Given the description of an element on the screen output the (x, y) to click on. 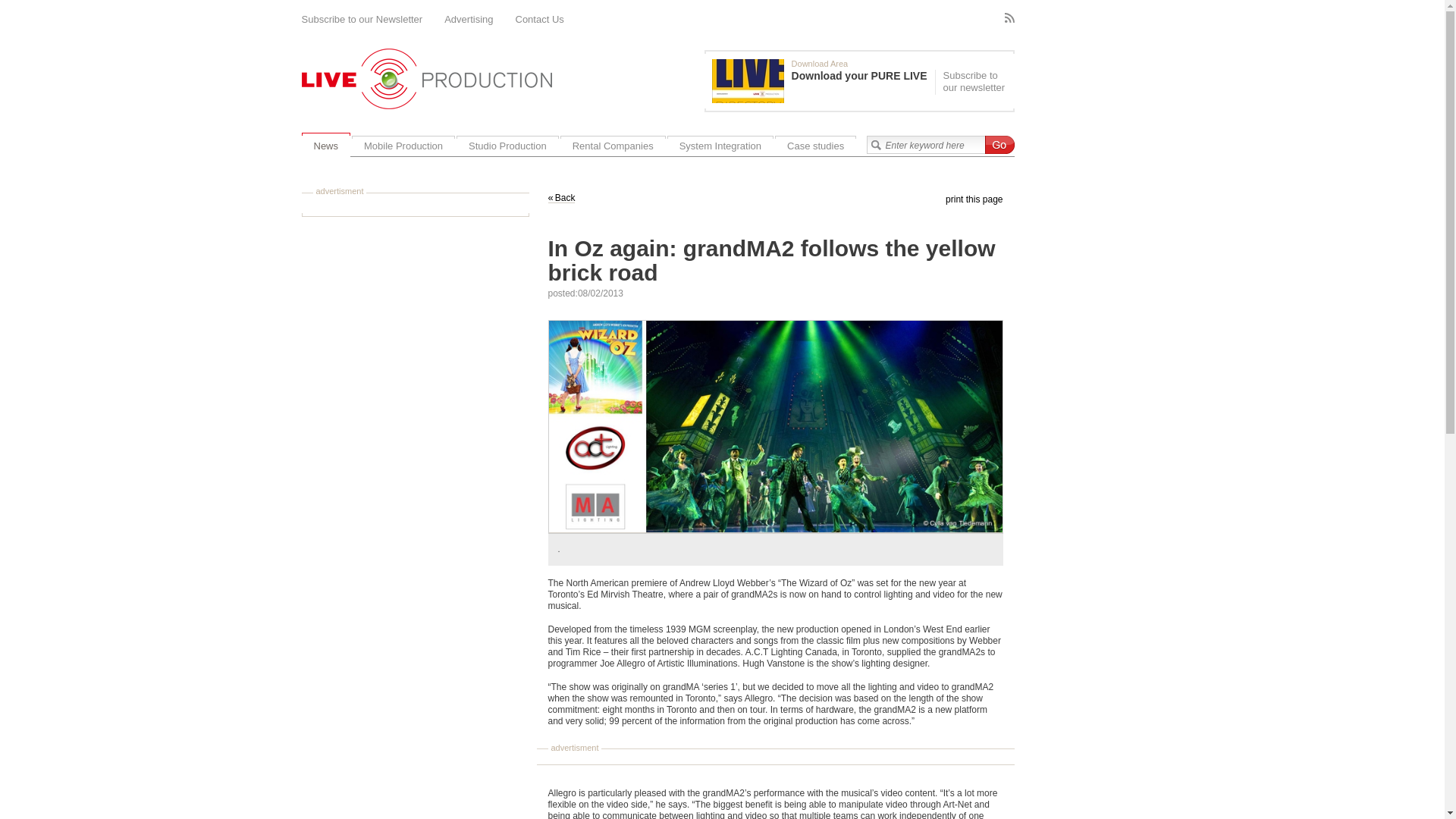
PURE LIVE 2018 (747, 80)
Go (998, 144)
Subscribe to our newsletter (972, 82)
Contact Us (539, 19)
Publication (822, 80)
Advertising (468, 19)
Subscribe to our Newsletter (362, 19)
RSS (1008, 17)
